Given the description of an element on the screen output the (x, y) to click on. 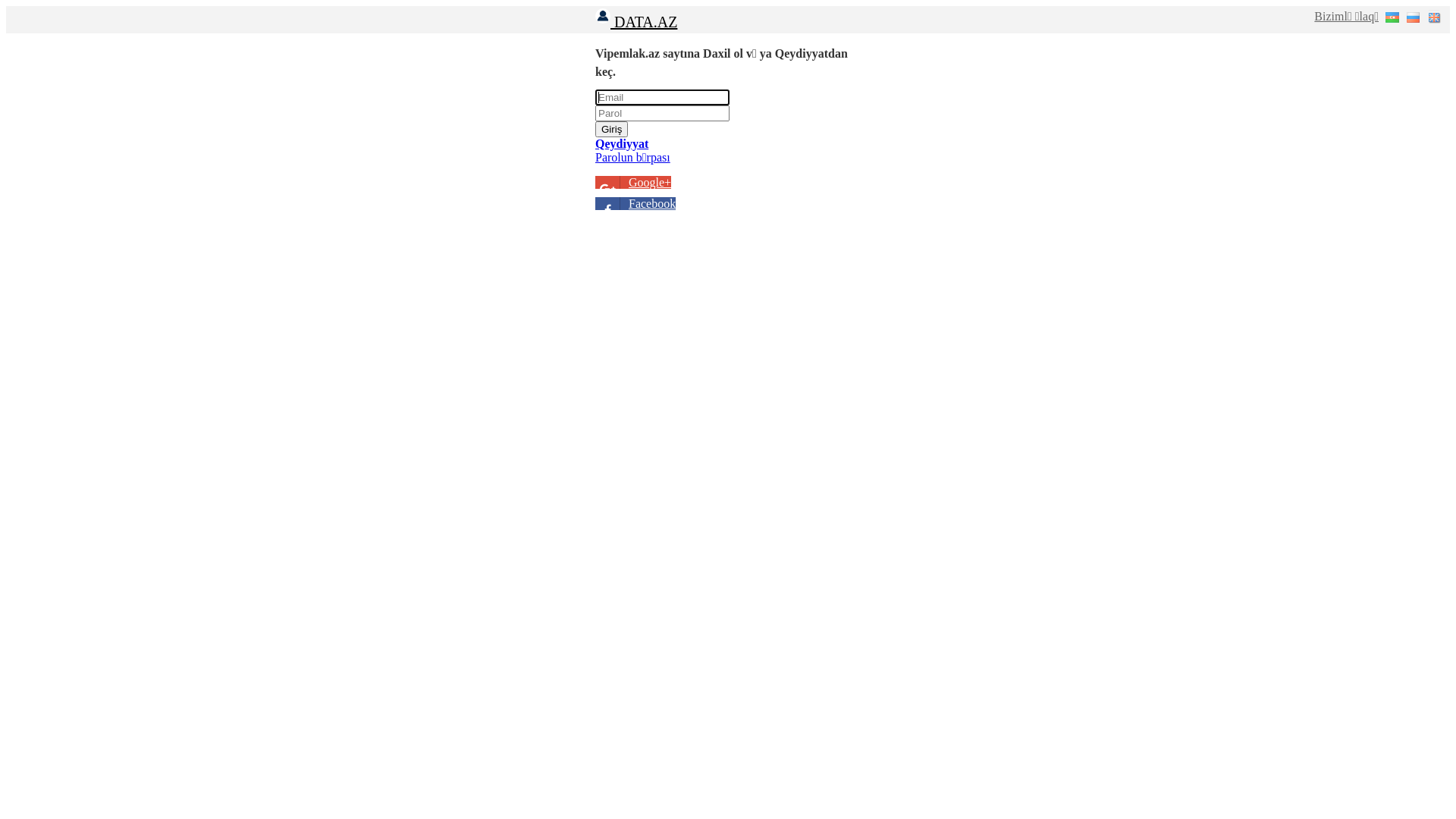
in english Element type: hover (1434, 15)
Google+ Element type: text (633, 181)
DATA.AZ Element type: text (636, 21)
Qeydiyyat Element type: text (621, 143)
Facebook Element type: text (635, 203)
